Given the description of an element on the screen output the (x, y) to click on. 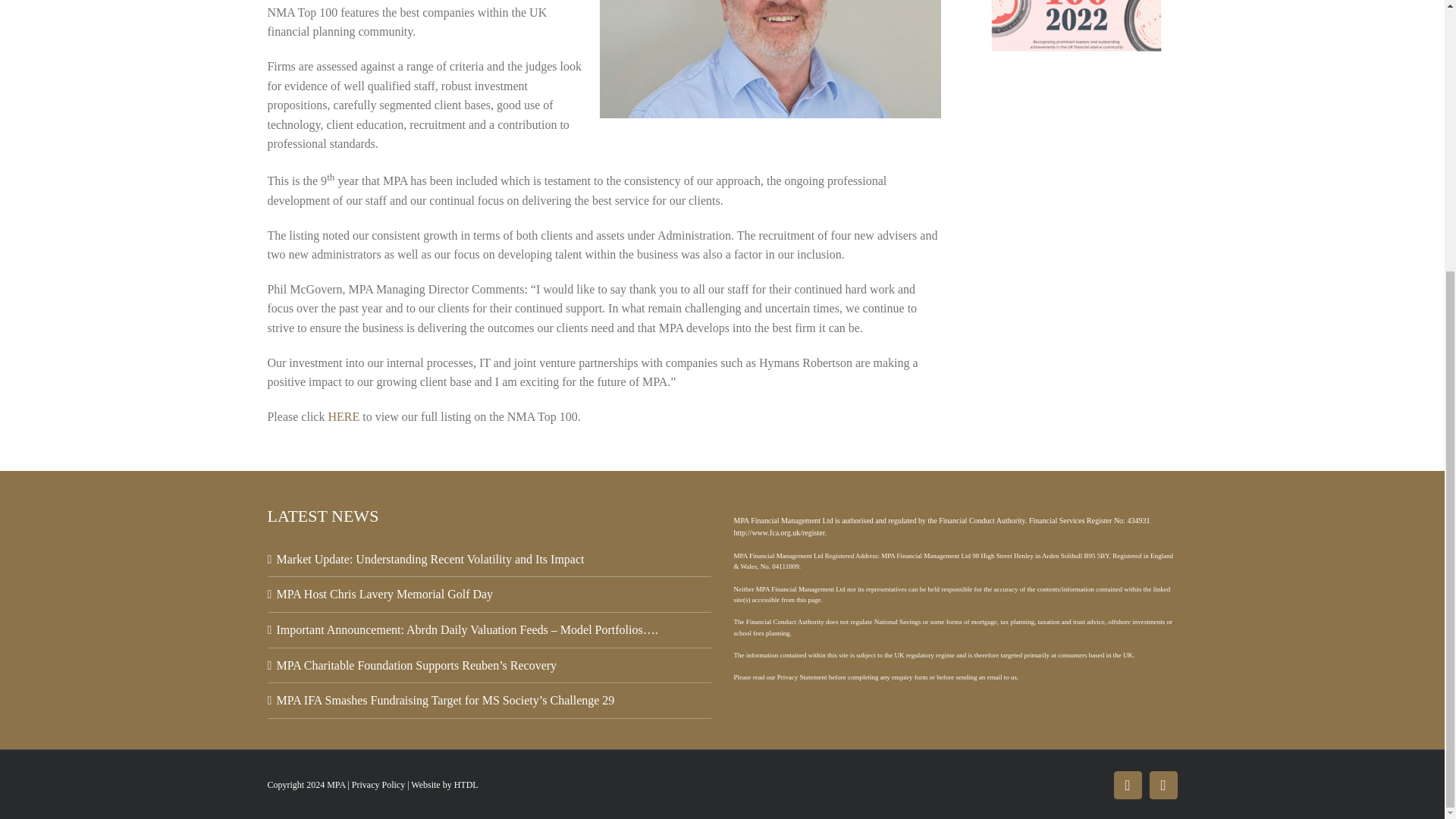
LinkedIn (1163, 785)
Facebook (1127, 785)
HERE (343, 416)
NMA Top 100 3 (1076, 33)
